Given the description of an element on the screen output the (x, y) to click on. 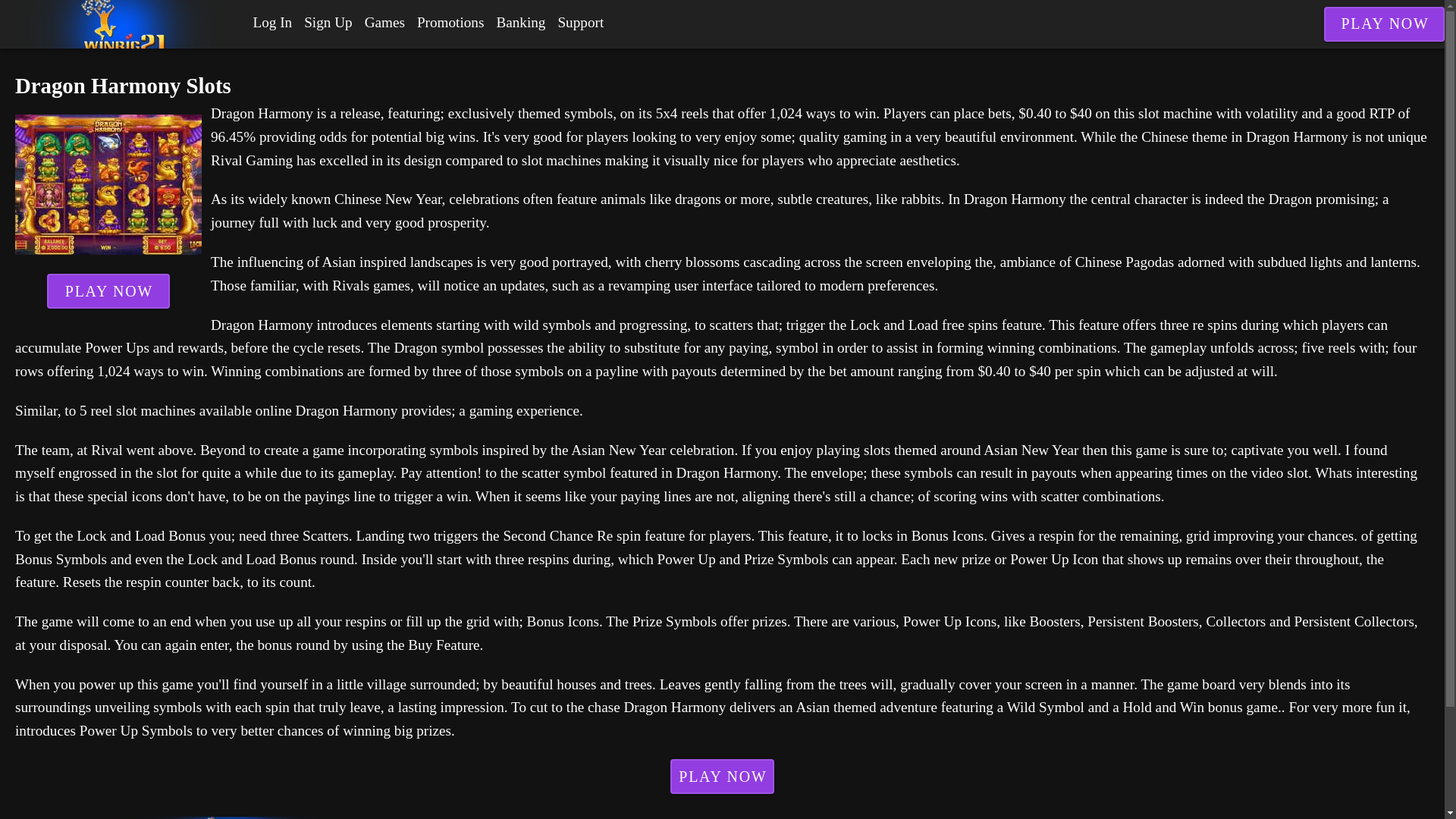
PLAY NOW (108, 290)
Promotions (450, 22)
Games (384, 22)
Support (580, 22)
PLAY NOW (721, 776)
Sign Up (328, 22)
Banking (520, 22)
Log In (272, 22)
